Given the description of an element on the screen output the (x, y) to click on. 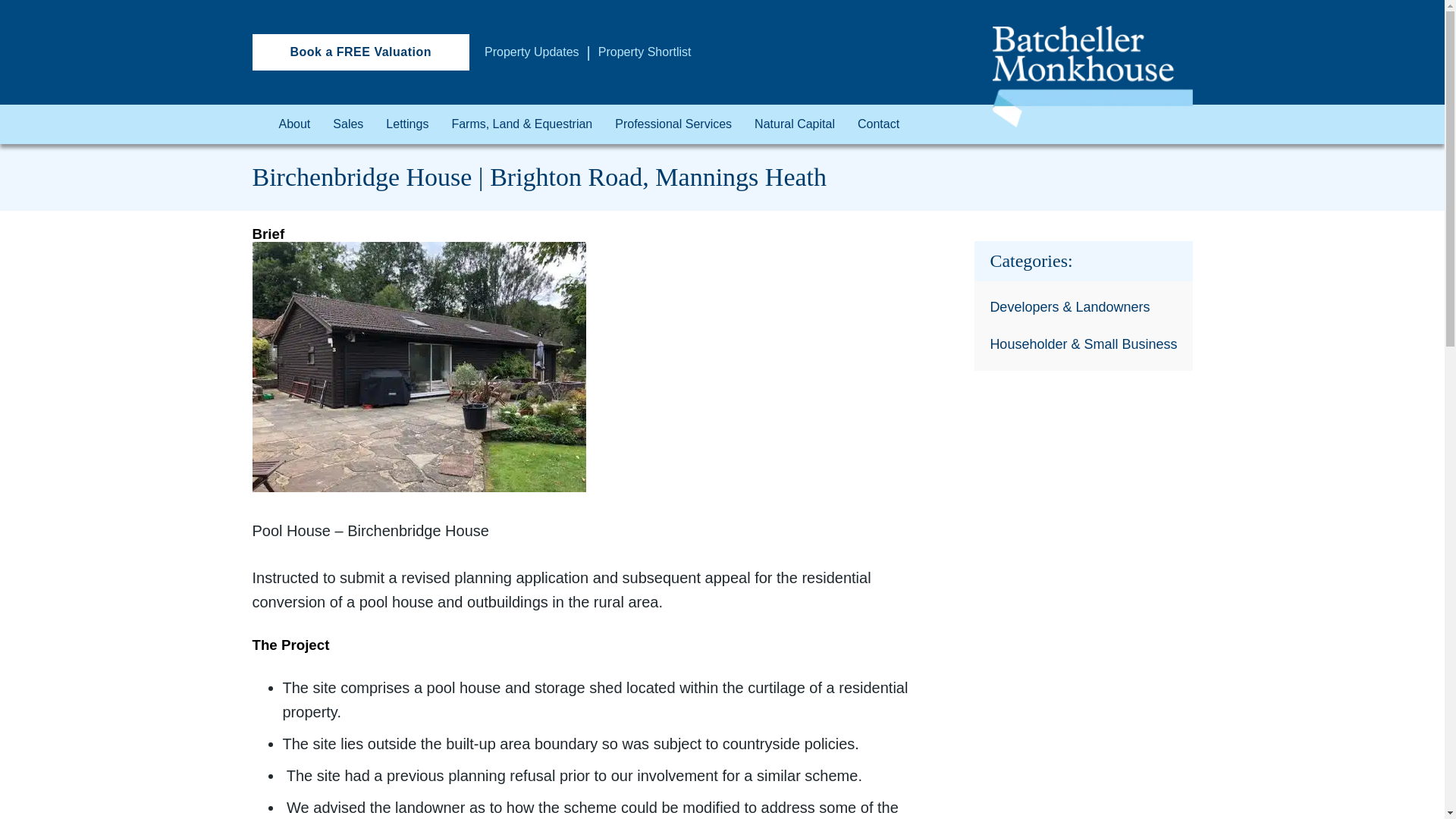
Lettings (406, 124)
Book a FREE Valuation (359, 52)
About (295, 124)
Professional Services (673, 124)
Property Updates (531, 52)
Sales (347, 124)
Property Shortlist (644, 52)
